Given the description of an element on the screen output the (x, y) to click on. 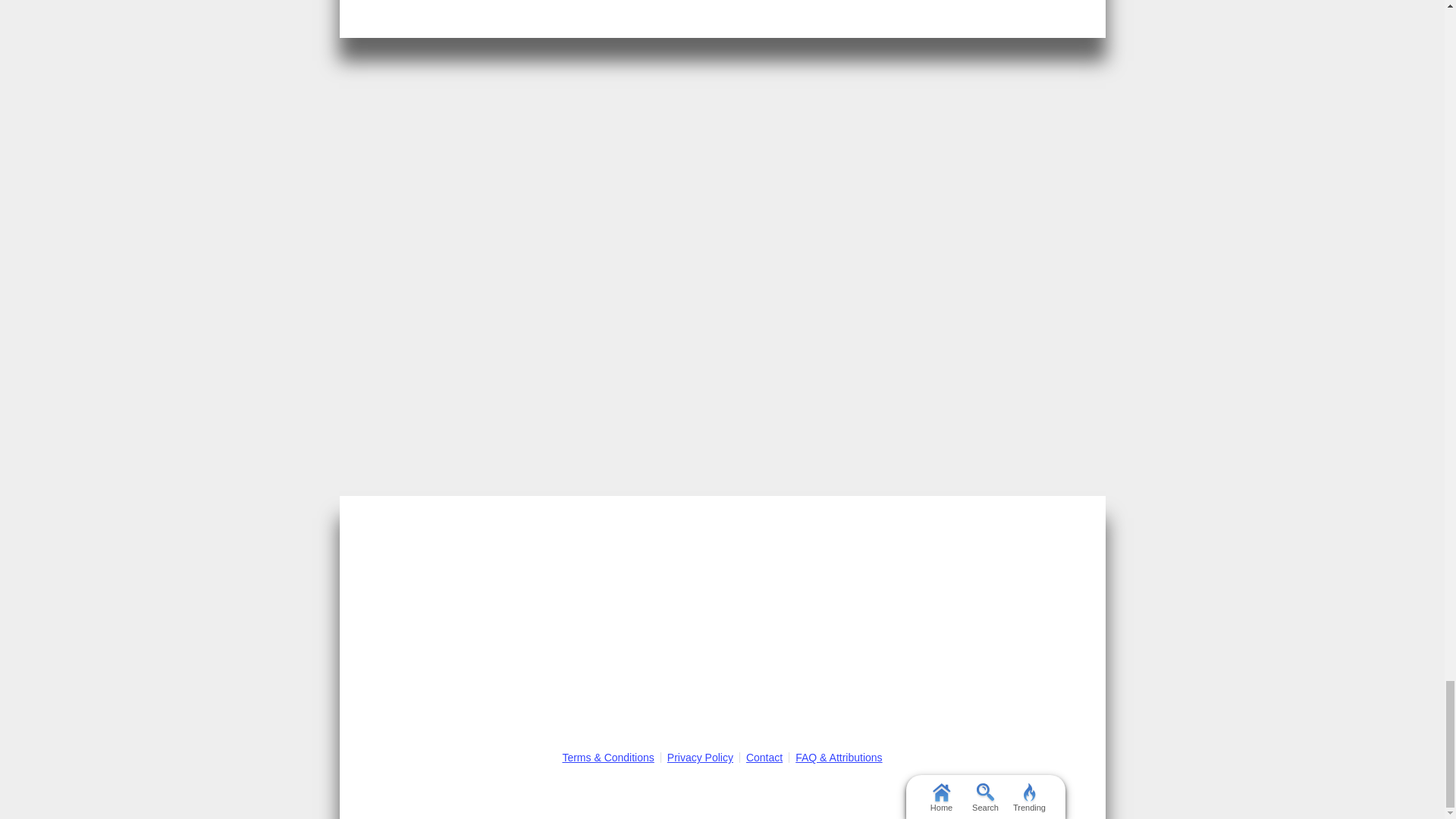
Privacy Policy (699, 757)
Contact (764, 757)
